Given the description of an element on the screen output the (x, y) to click on. 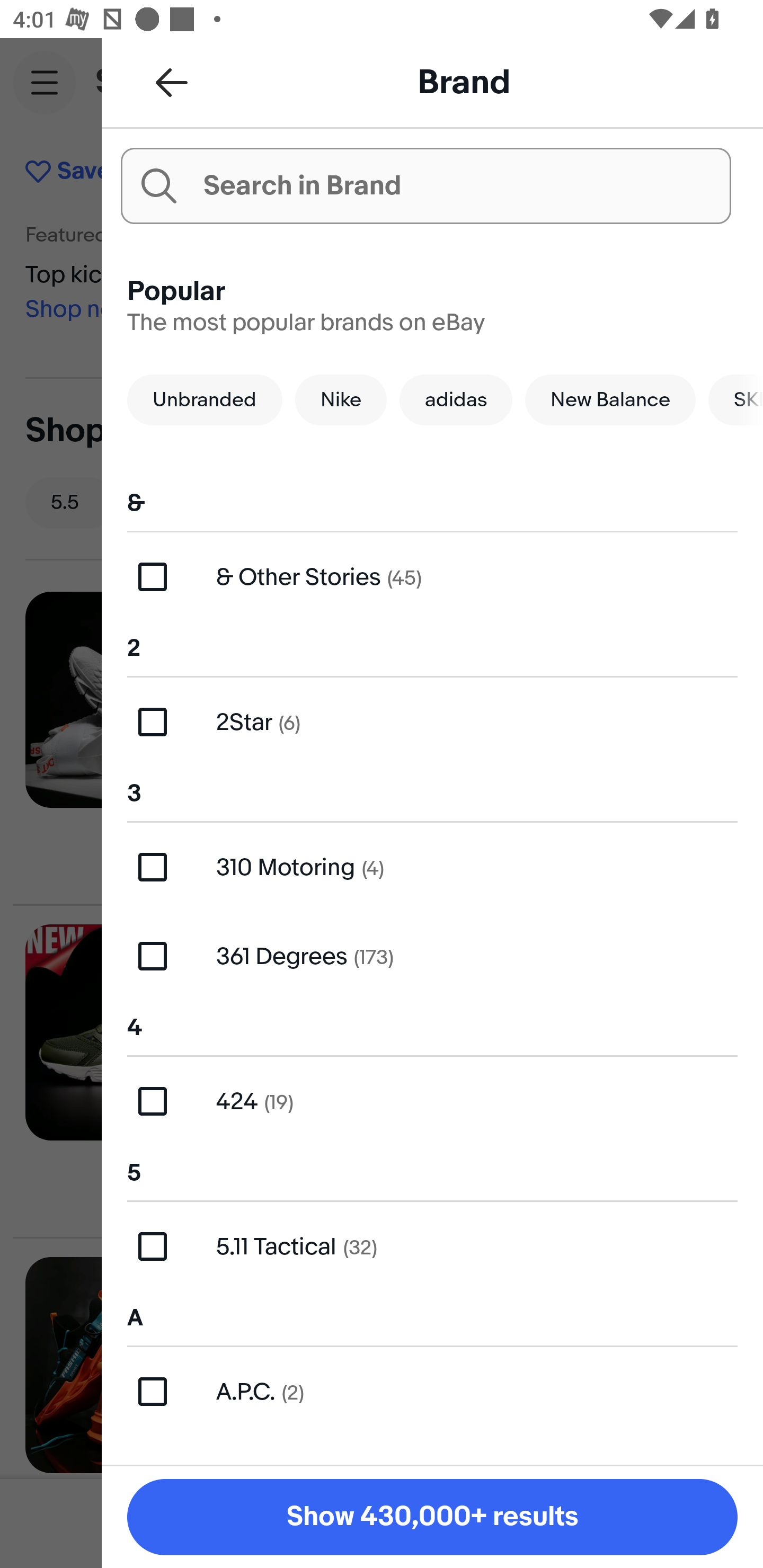
Back to all refinements (171, 81)
Search in Brand (425, 185)
Unbranded (204, 399)
Nike (340, 399)
adidas (455, 399)
New Balance (609, 399)
& Other Stories (45) (432, 576)
2Star (6) (432, 721)
310 Motoring (4) (432, 867)
361 Degrees (173) (432, 955)
424 (19) (432, 1101)
5.11 Tactical (32) (432, 1246)
A.P.C. (2) (432, 1391)
Show 430,000+ results (432, 1516)
